Given the description of an element on the screen output the (x, y) to click on. 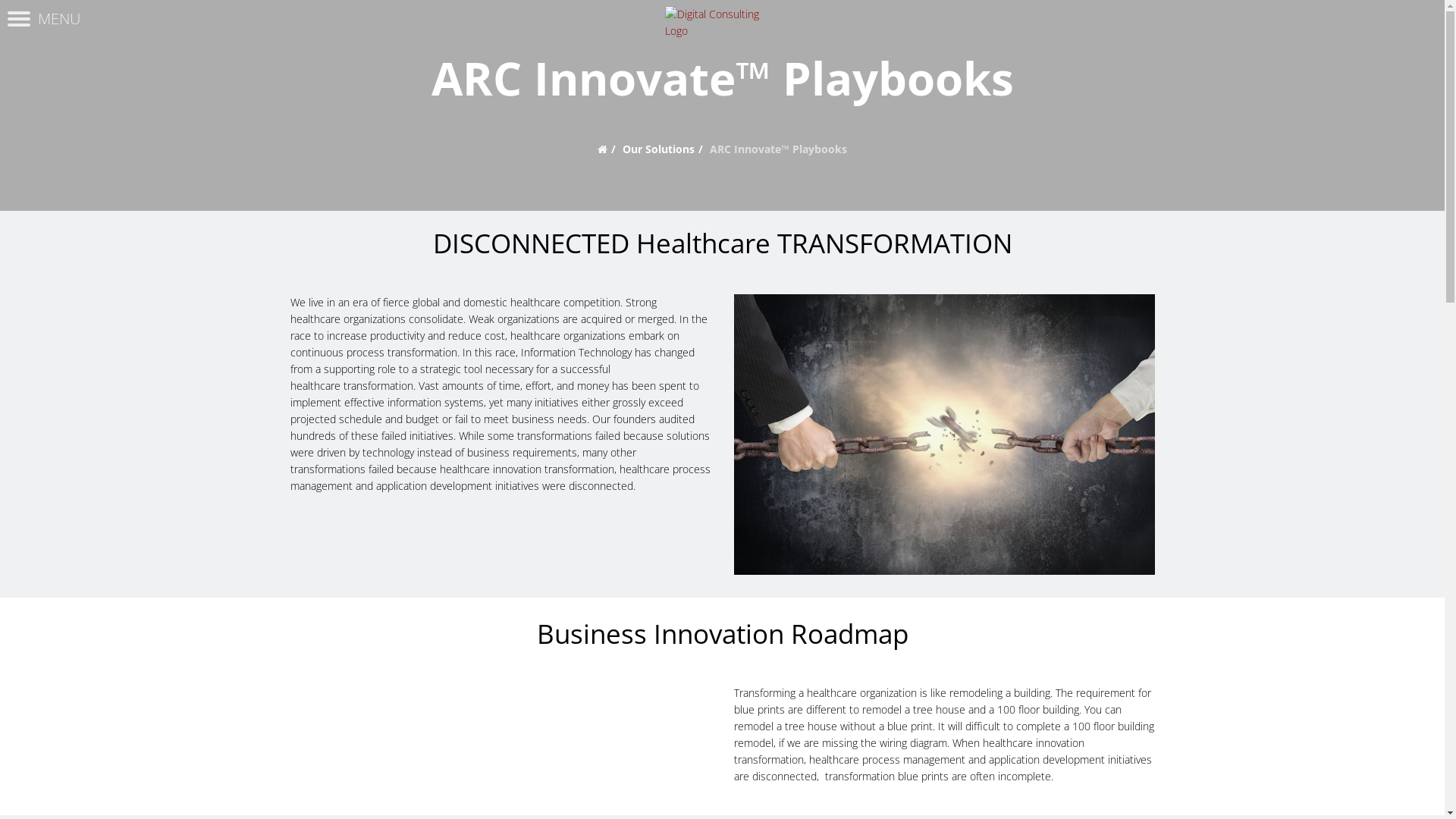
Our Solutions Element type: text (658, 148)
